Given the description of an element on the screen output the (x, y) to click on. 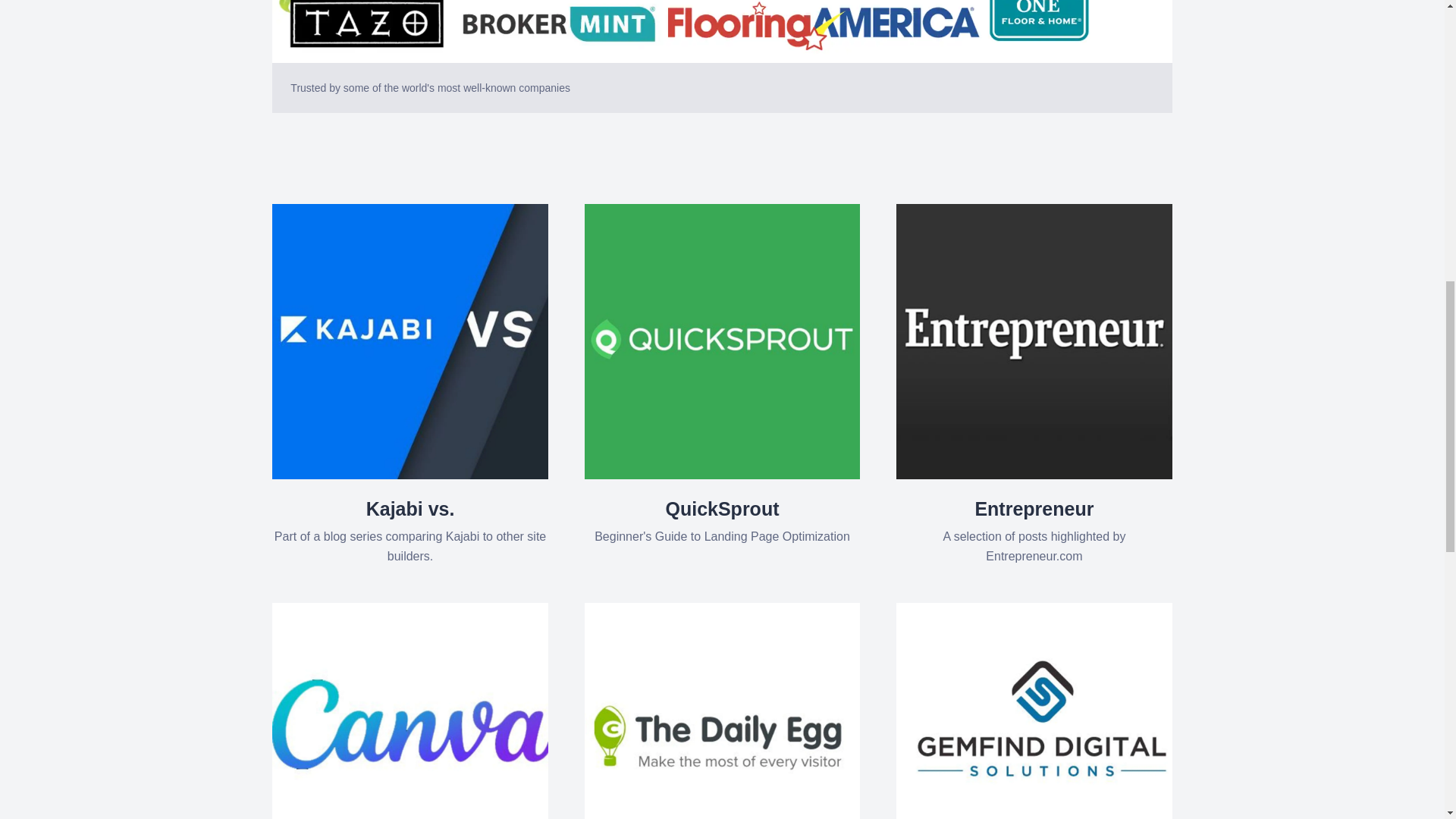
Entrepreneur (1034, 531)
Kajabi vs. (409, 531)
QuickSprout (722, 522)
